Given the description of an element on the screen output the (x, y) to click on. 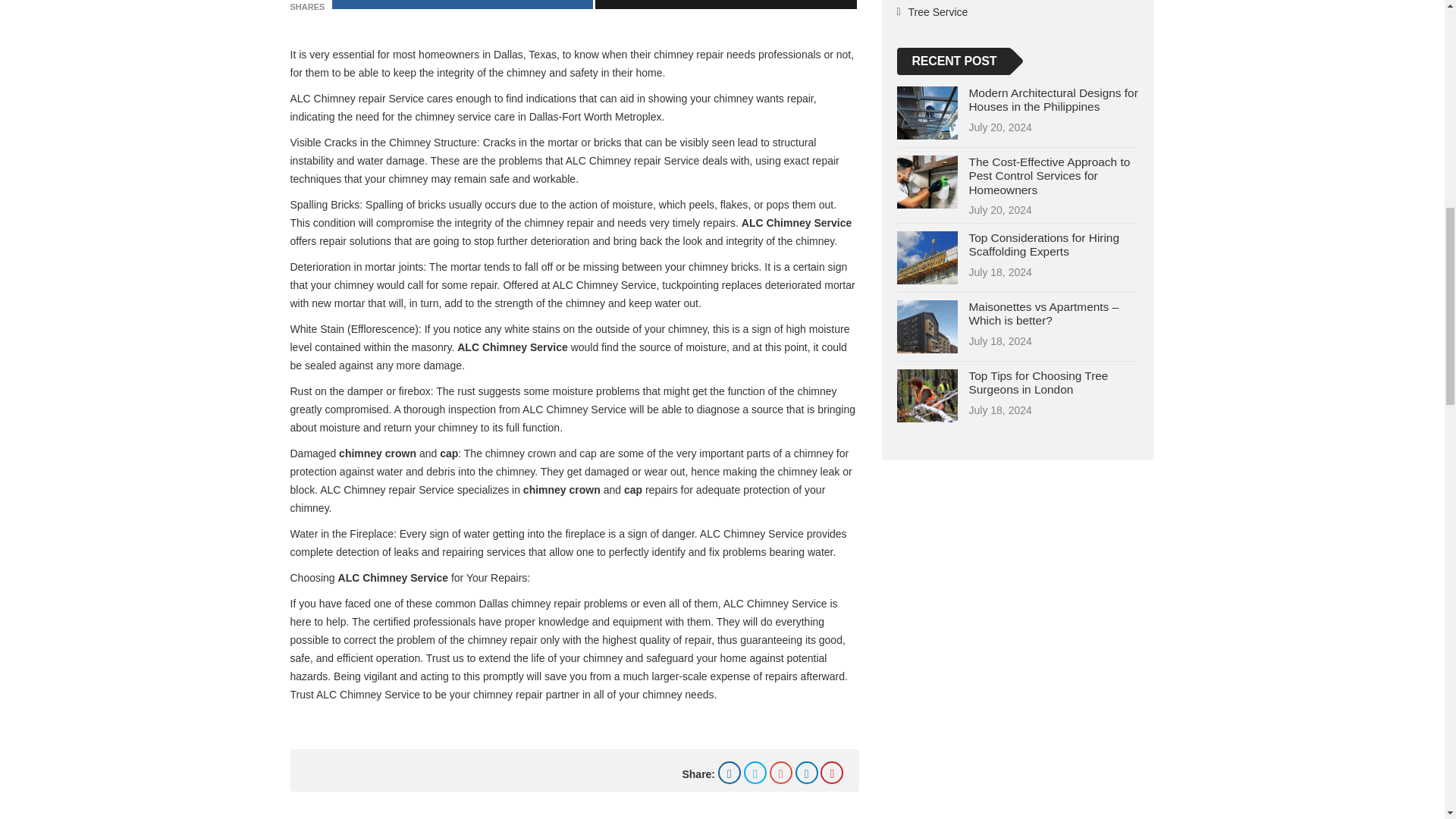
Facebook (729, 772)
chimney crown (560, 490)
chimney crown (377, 453)
Share (461, 4)
cap (448, 453)
cap (633, 490)
Tweet (725, 4)
Google Plus (781, 772)
Twitter (755, 772)
ALC Chimney Service (796, 223)
Linkedin (806, 772)
Pinterest (832, 772)
ALC Chimney Service (392, 577)
ALC Chimney Service (512, 346)
